Given the description of an element on the screen output the (x, y) to click on. 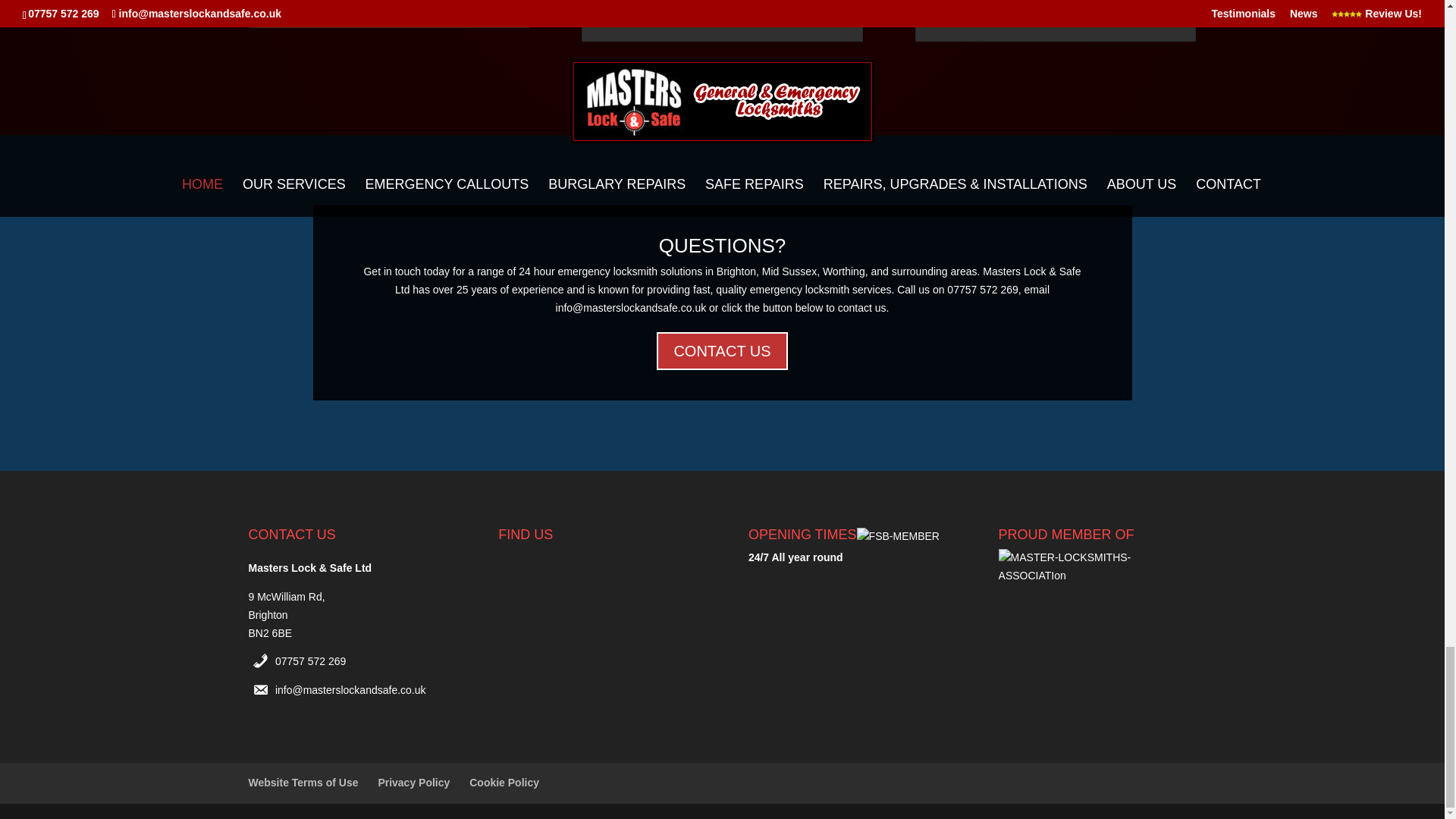
CONTACT US (721, 351)
